Given the description of an element on the screen output the (x, y) to click on. 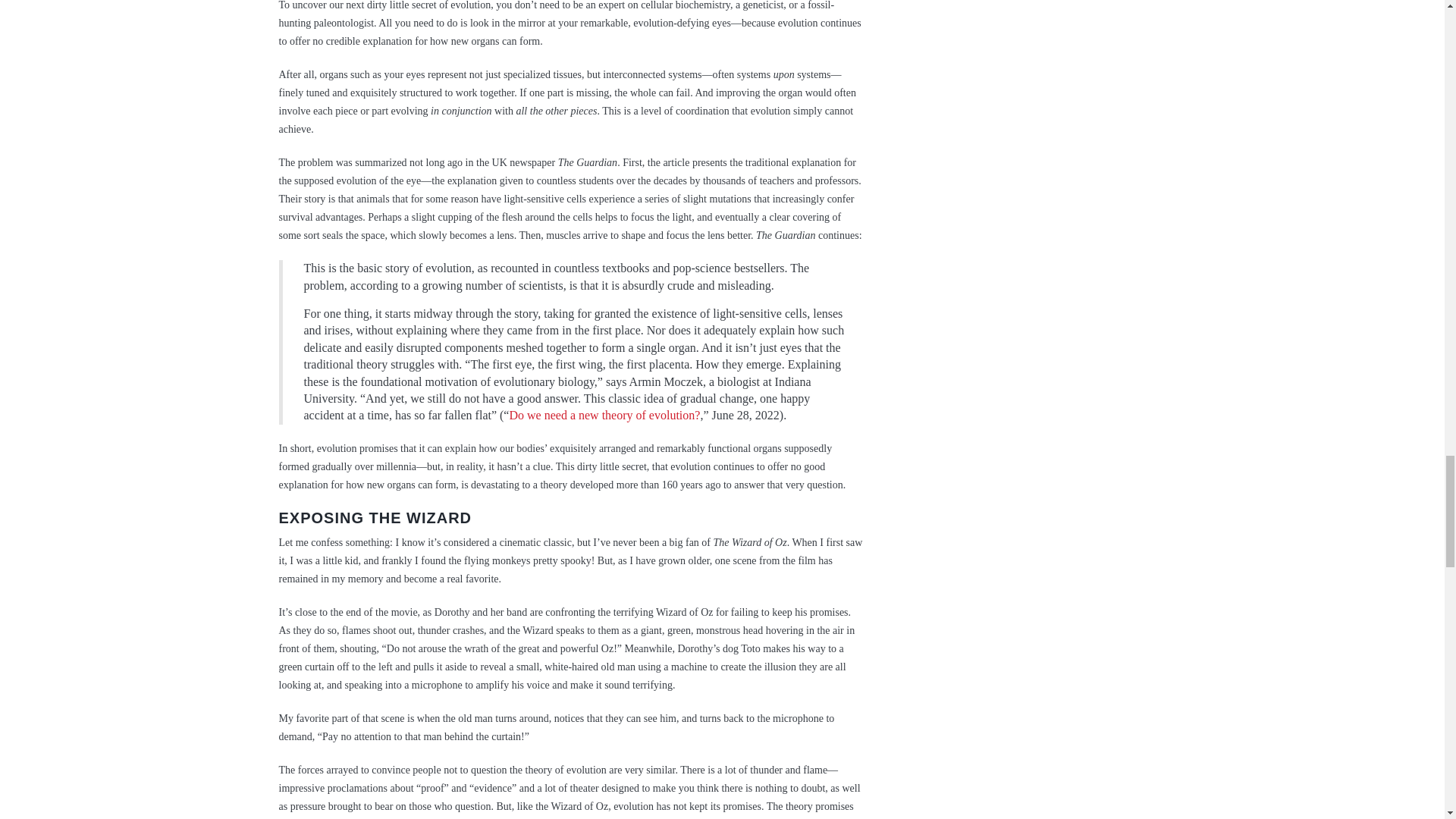
Do we need a new theory of evolution? (604, 414)
